Given the description of an element on the screen output the (x, y) to click on. 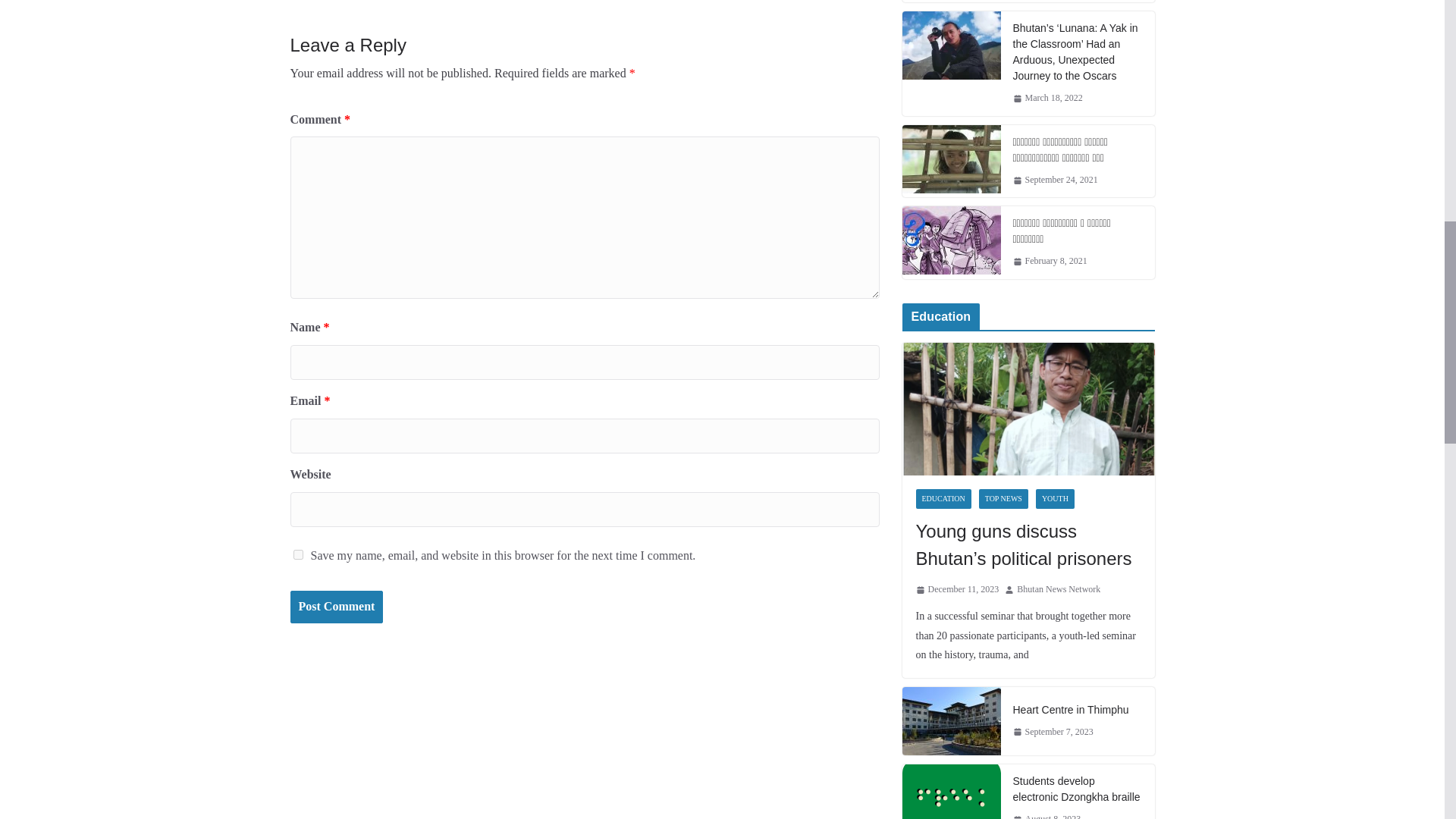
Post Comment (335, 606)
March 18, 2022 (1048, 98)
yes (297, 554)
Thinking of our beloved Kishor Rai Daju (951, 1)
Post Comment (335, 606)
